Given the description of an element on the screen output the (x, y) to click on. 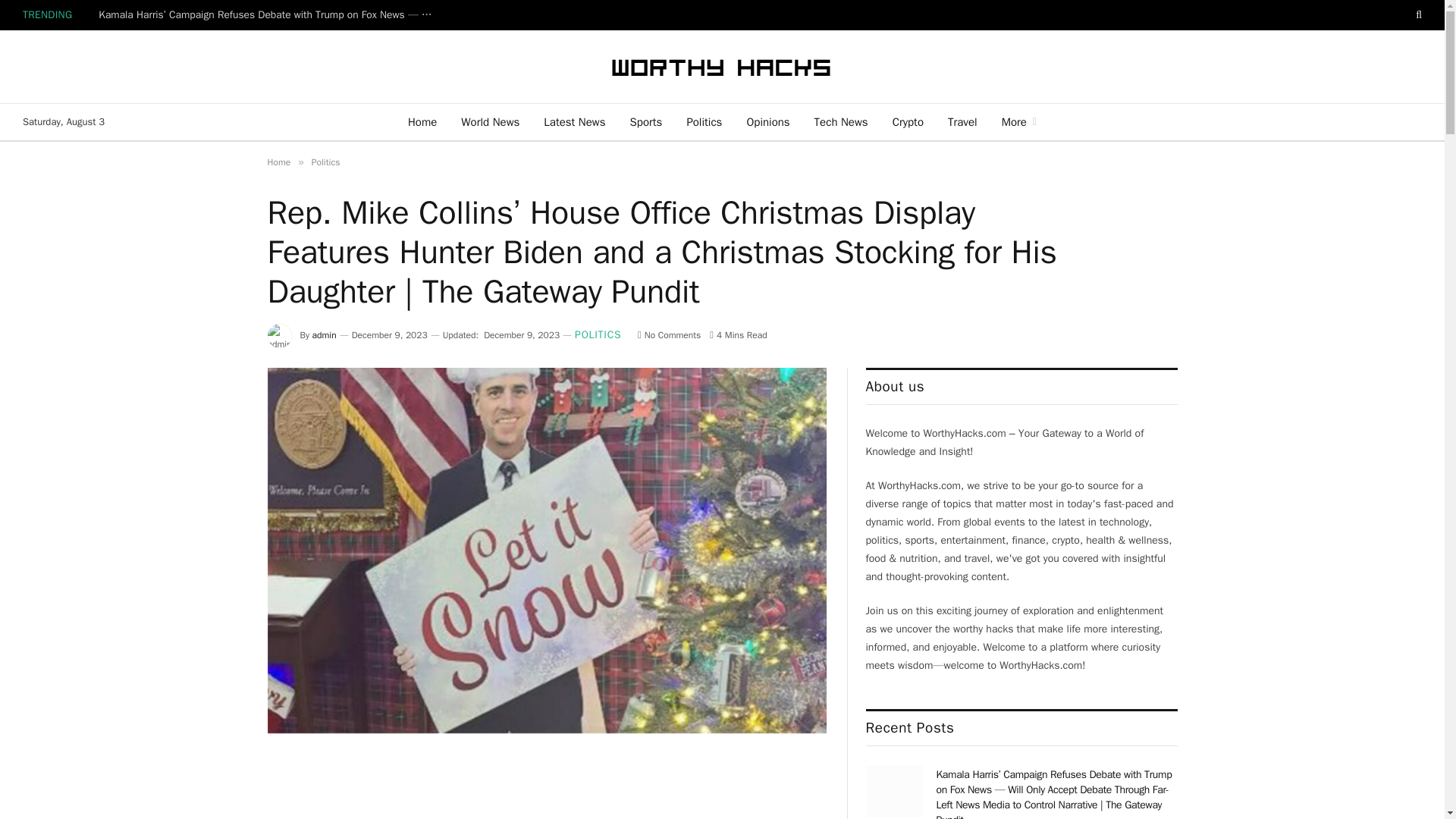
More (1019, 122)
Latest News (574, 122)
Posts by admin (324, 335)
Worthy Hacks (721, 66)
Home (422, 122)
No Comments (668, 335)
Home (277, 162)
Politics (703, 122)
POLITICS (598, 335)
admin (324, 335)
